Given the description of an element on the screen output the (x, y) to click on. 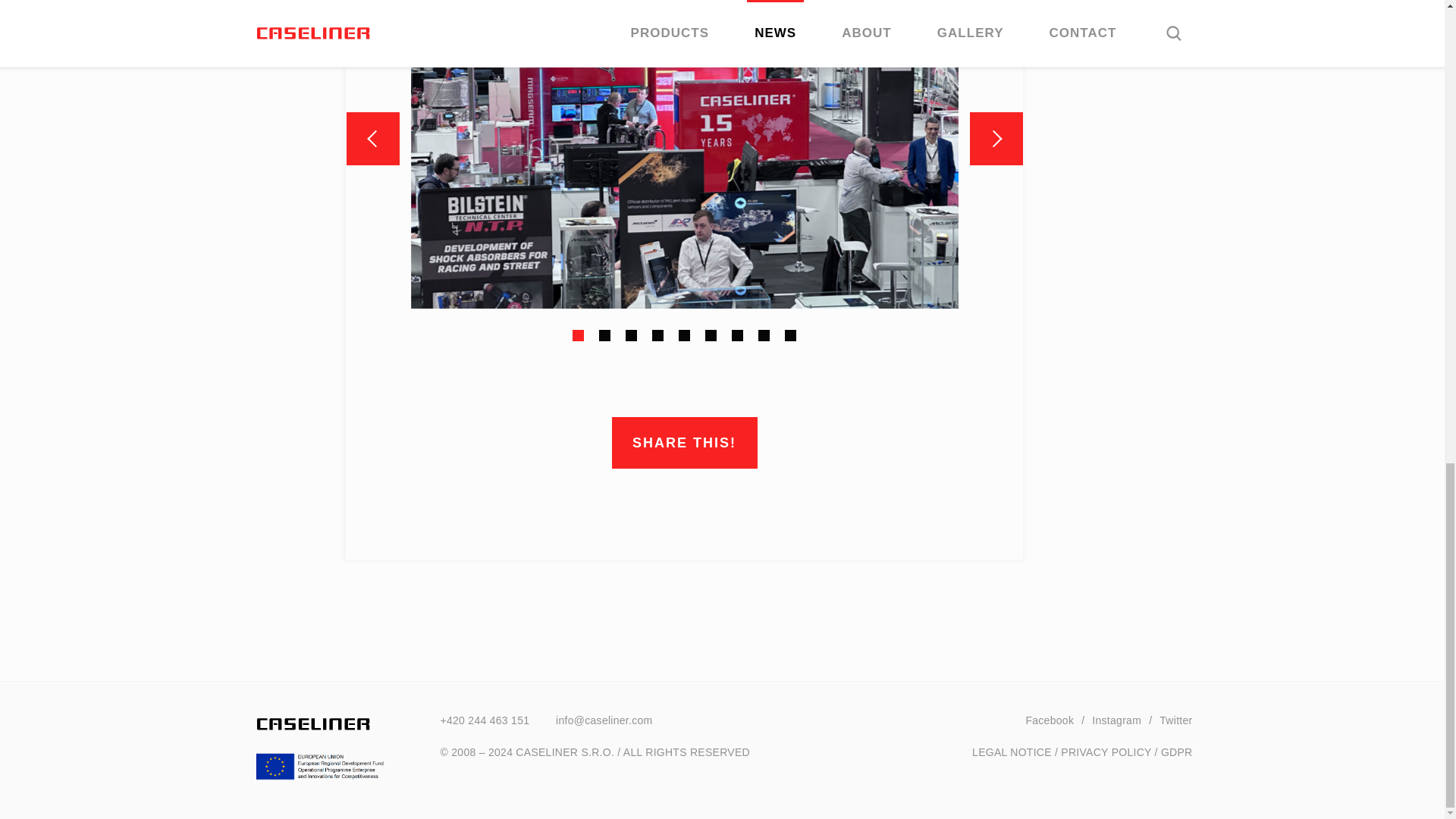
Facebook (1049, 719)
Twitter (1175, 719)
SHARE THIS! (684, 442)
Instagram (1116, 719)
